Given the description of an element on the screen output the (x, y) to click on. 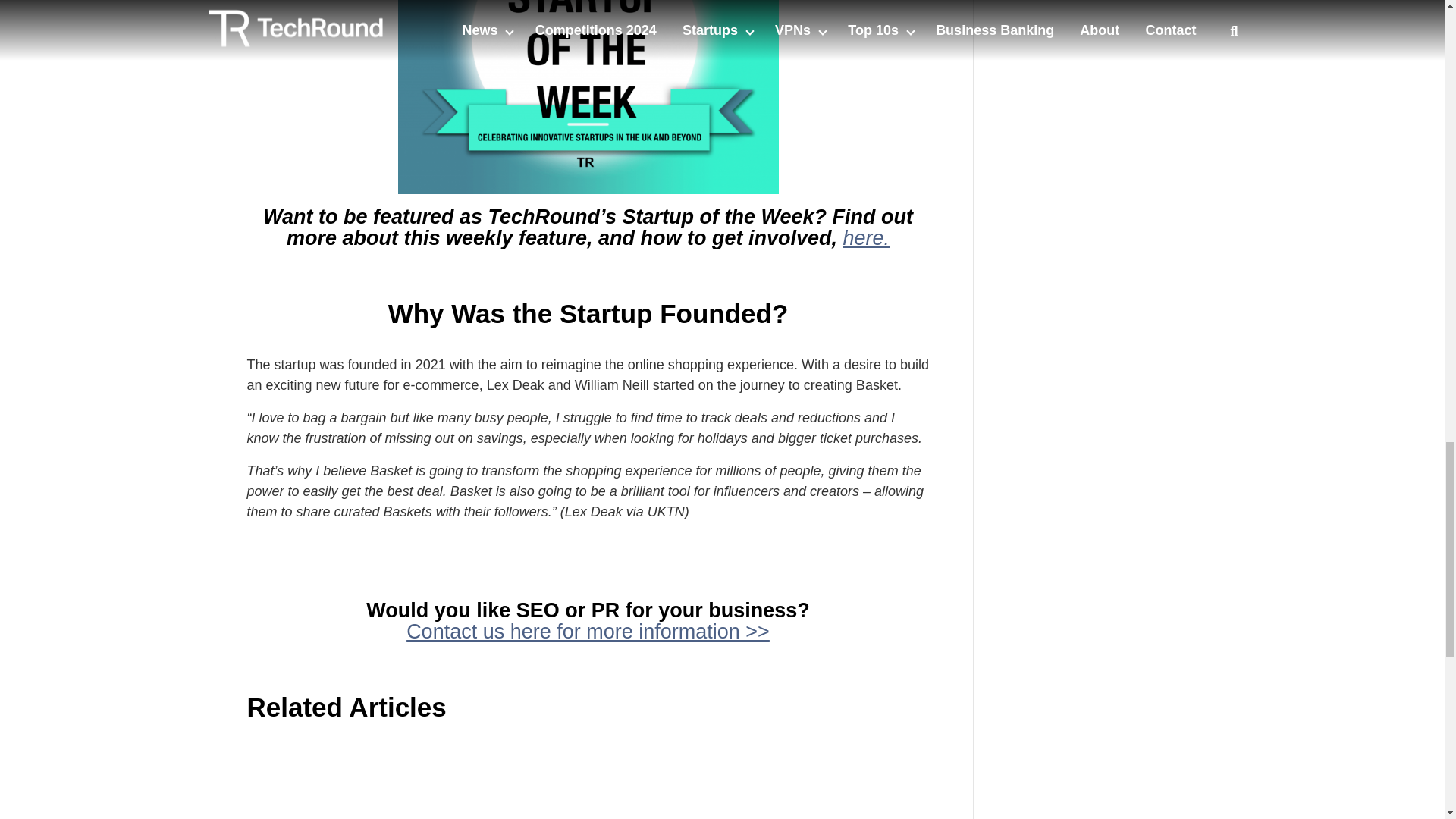
Top 10 Coffee Subscription Boxes (360, 779)
Enter The BAME Top 50 Entrepreneurs - Deadline 10th Nov 2021 (1107, 17)
